Given the description of an element on the screen output the (x, y) to click on. 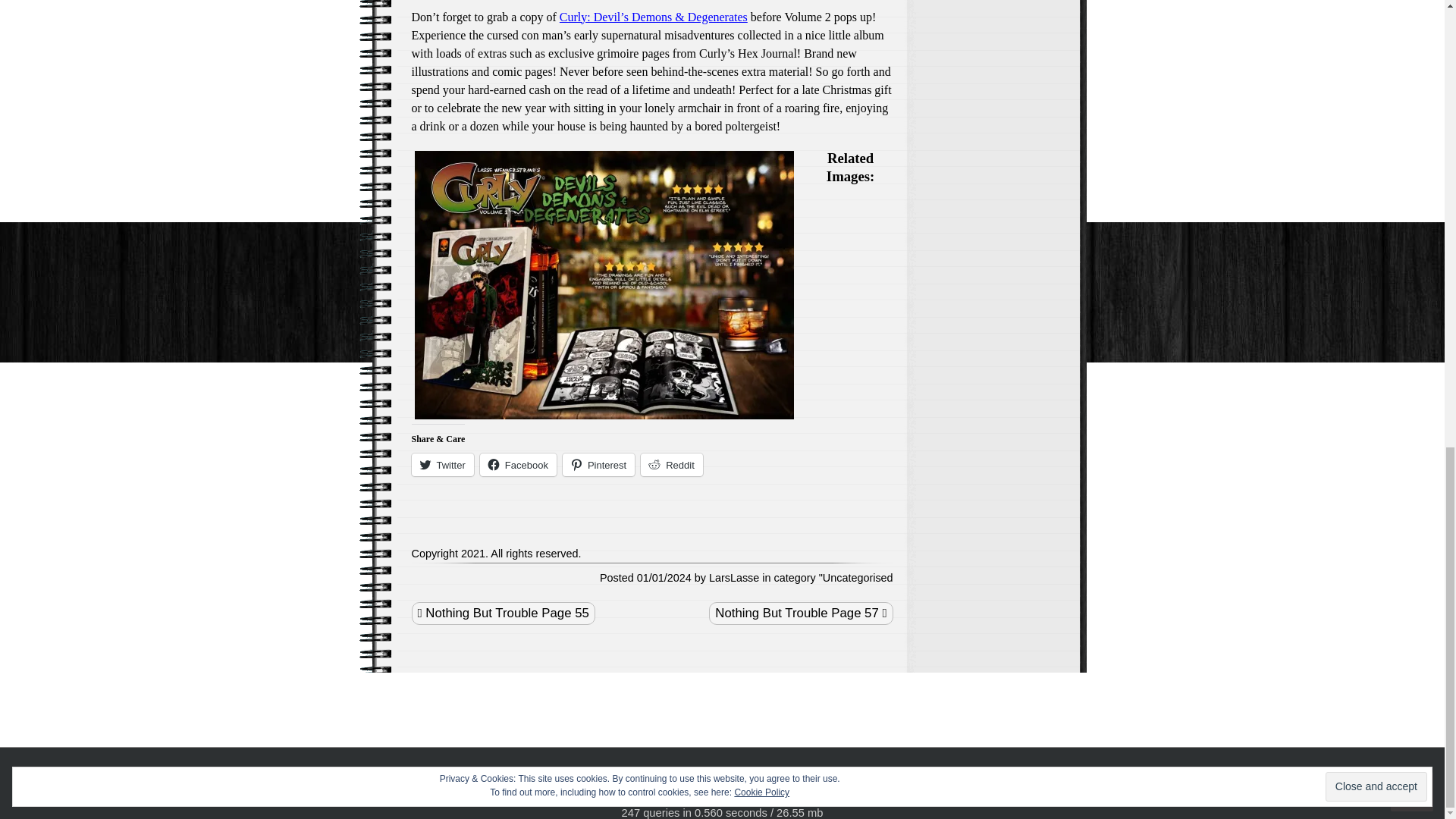
Nothing But Trouble Page 57 (800, 612)
Uncategorised (857, 577)
Reddit (671, 464)
Click to share on Reddit (671, 464)
Click to share on Facebook (518, 464)
Click to share on Pinterest (598, 464)
Theme page (718, 800)
Click to share on Twitter (441, 464)
Nothing But Trouble Page 55 (502, 612)
Pinterest (598, 464)
